Given the description of an element on the screen output the (x, y) to click on. 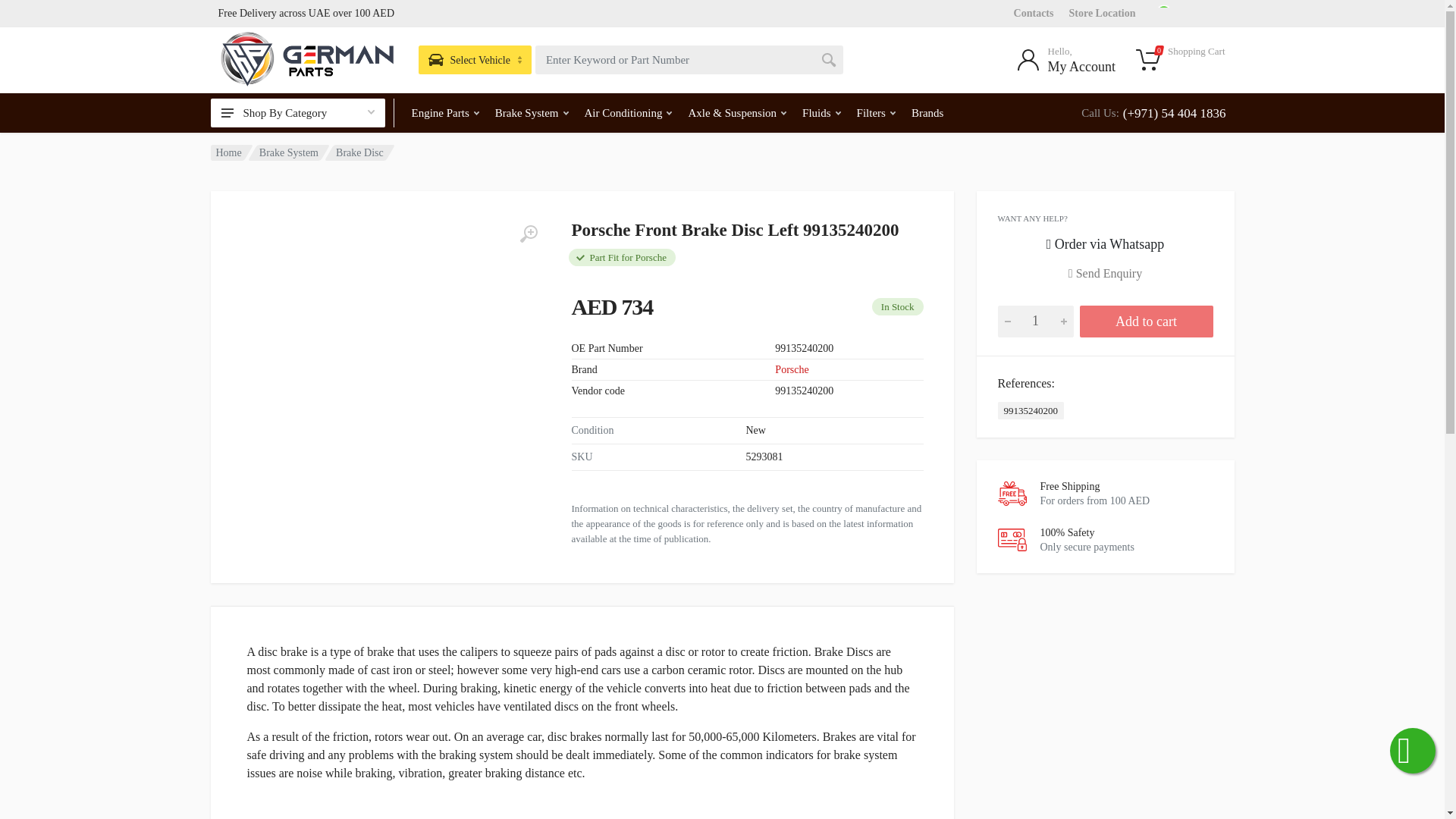
Store Location (1101, 12)
Shop By Category (298, 112)
1 (1035, 320)
Contacts (1033, 12)
